Given the description of an element on the screen output the (x, y) to click on. 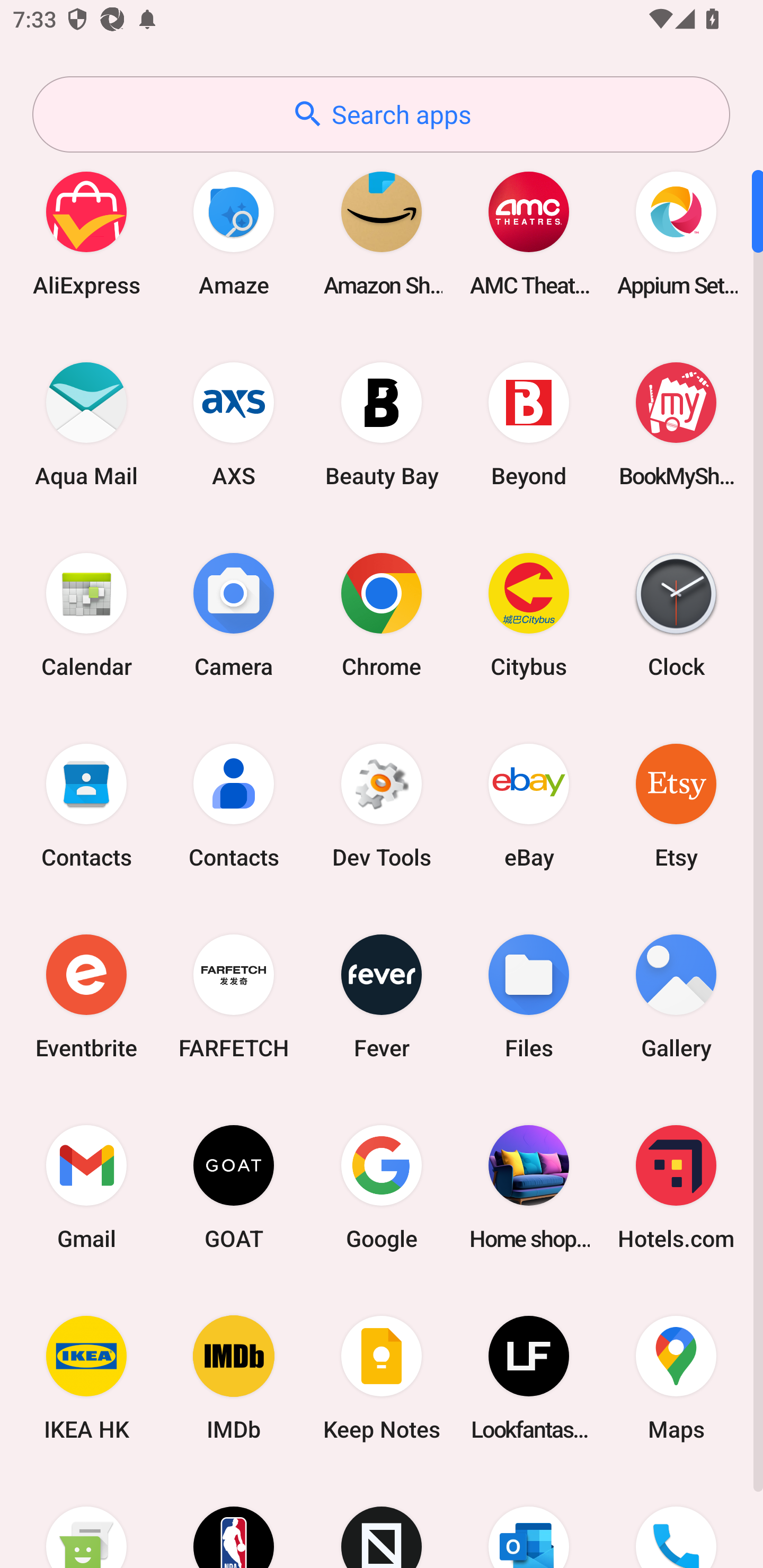
  Search apps (381, 114)
AliExpress (86, 233)
Amaze (233, 233)
Amazon Shopping (381, 233)
AMC Theatres (528, 233)
Appium Settings (676, 233)
Aqua Mail (86, 424)
AXS (233, 424)
Beauty Bay (381, 424)
Beyond (528, 424)
BookMyShow (676, 424)
Calendar (86, 614)
Camera (233, 614)
Chrome (381, 614)
Citybus (528, 614)
Clock (676, 614)
Contacts (86, 805)
Contacts (233, 805)
Dev Tools (381, 805)
eBay (528, 805)
Etsy (676, 805)
Eventbrite (86, 996)
FARFETCH (233, 996)
Fever (381, 996)
Files (528, 996)
Gallery (676, 996)
Gmail (86, 1186)
GOAT (233, 1186)
Google (381, 1186)
Home shopping (528, 1186)
Hotels.com (676, 1186)
IKEA HK (86, 1377)
IMDb (233, 1377)
Keep Notes (381, 1377)
Lookfantastic (528, 1377)
Maps (676, 1377)
